Given the description of an element on the screen output the (x, y) to click on. 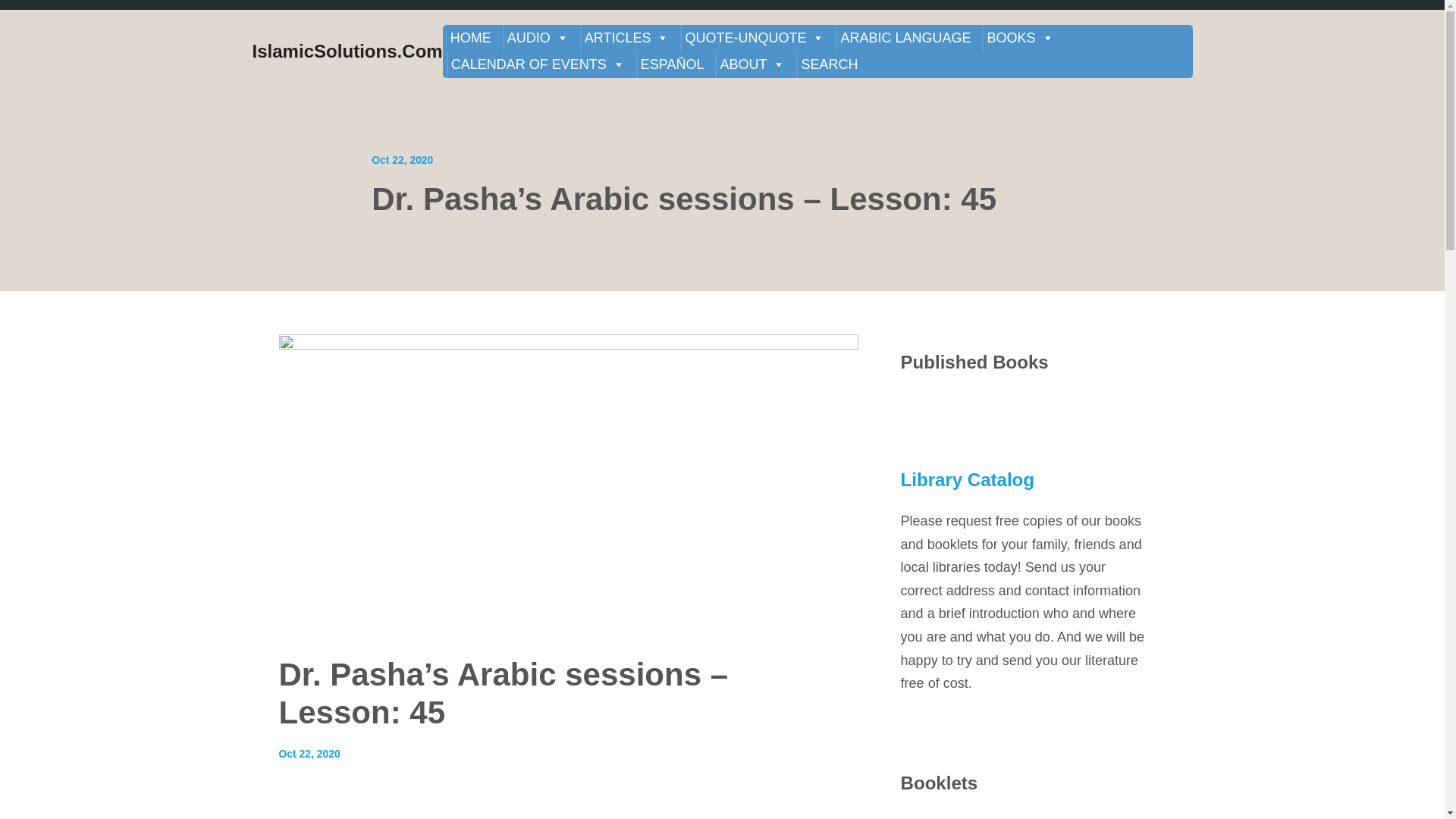
IslamicSolutions.Com (346, 51)
ARTICLES (626, 38)
IslamicSolutions.Com (346, 51)
HOME (470, 38)
AUDIO (537, 38)
QUOTE-UNQUOTE (754, 38)
